Given the description of an element on the screen output the (x, y) to click on. 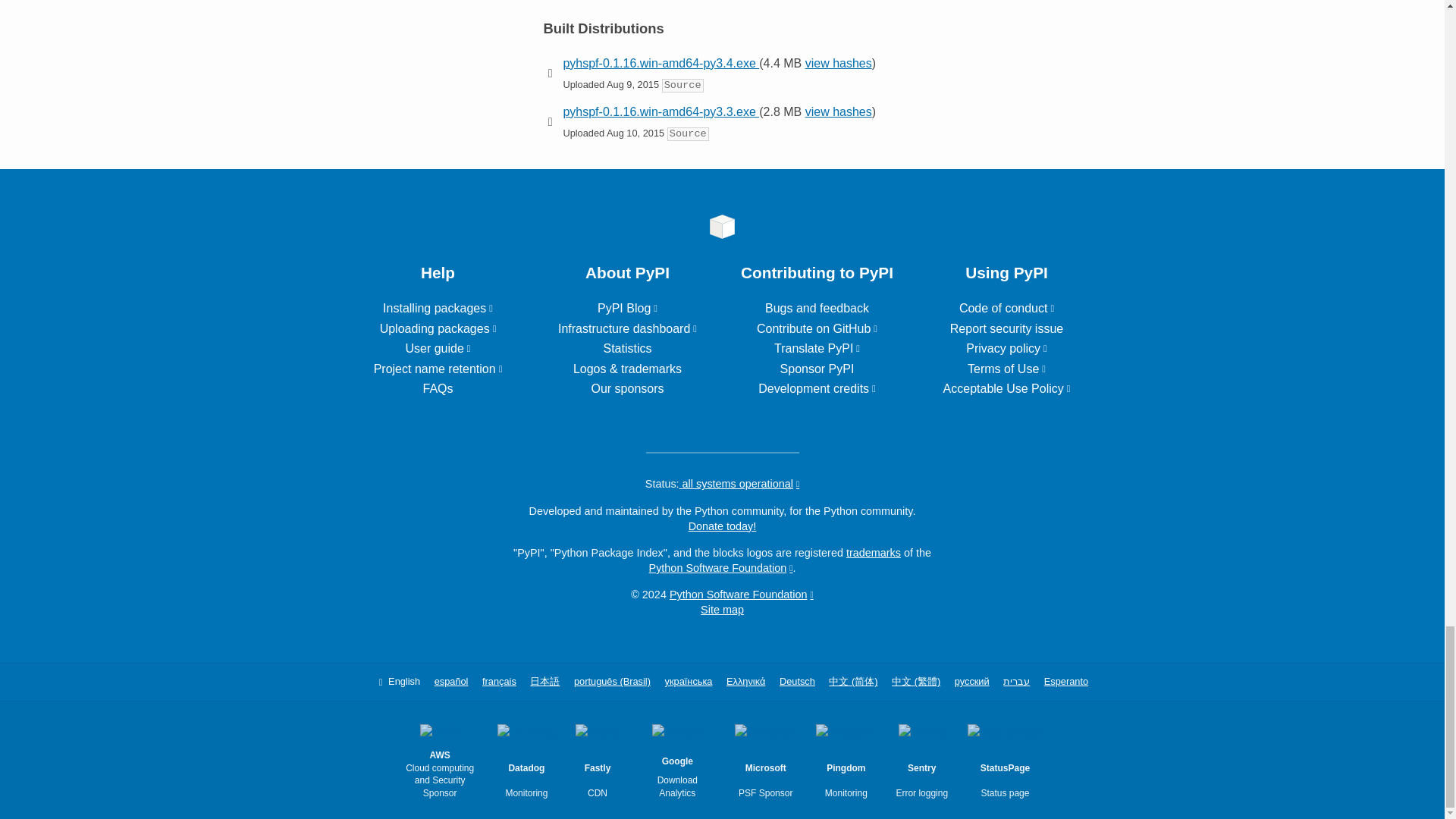
External link (627, 328)
External link (627, 308)
External link (438, 368)
External link (817, 328)
External link (437, 348)
External link (438, 328)
External link (437, 308)
